Given the description of an element on the screen output the (x, y) to click on. 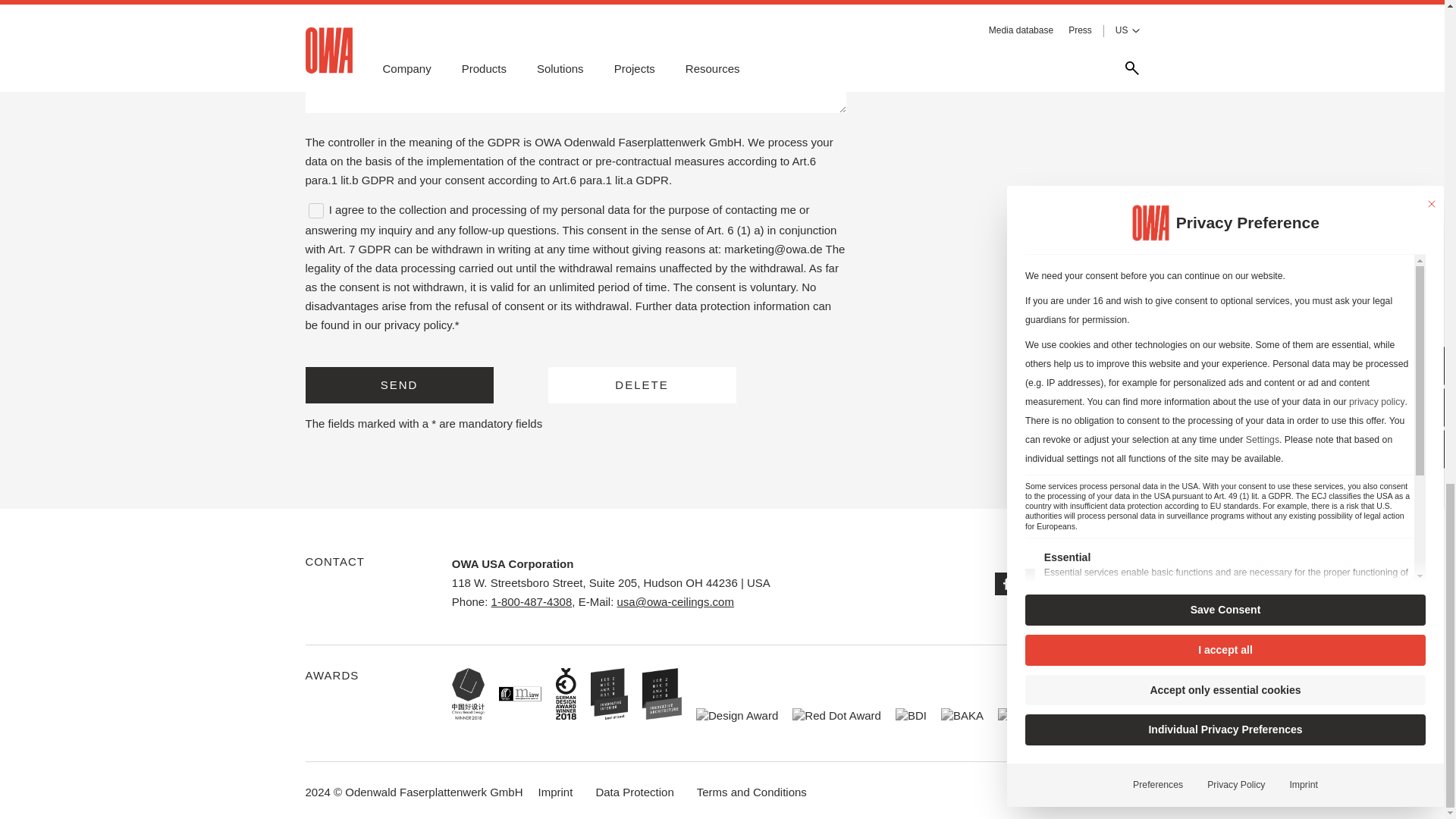
send (398, 384)
1 (315, 210)
delete (641, 384)
